Given the description of an element on the screen output the (x, y) to click on. 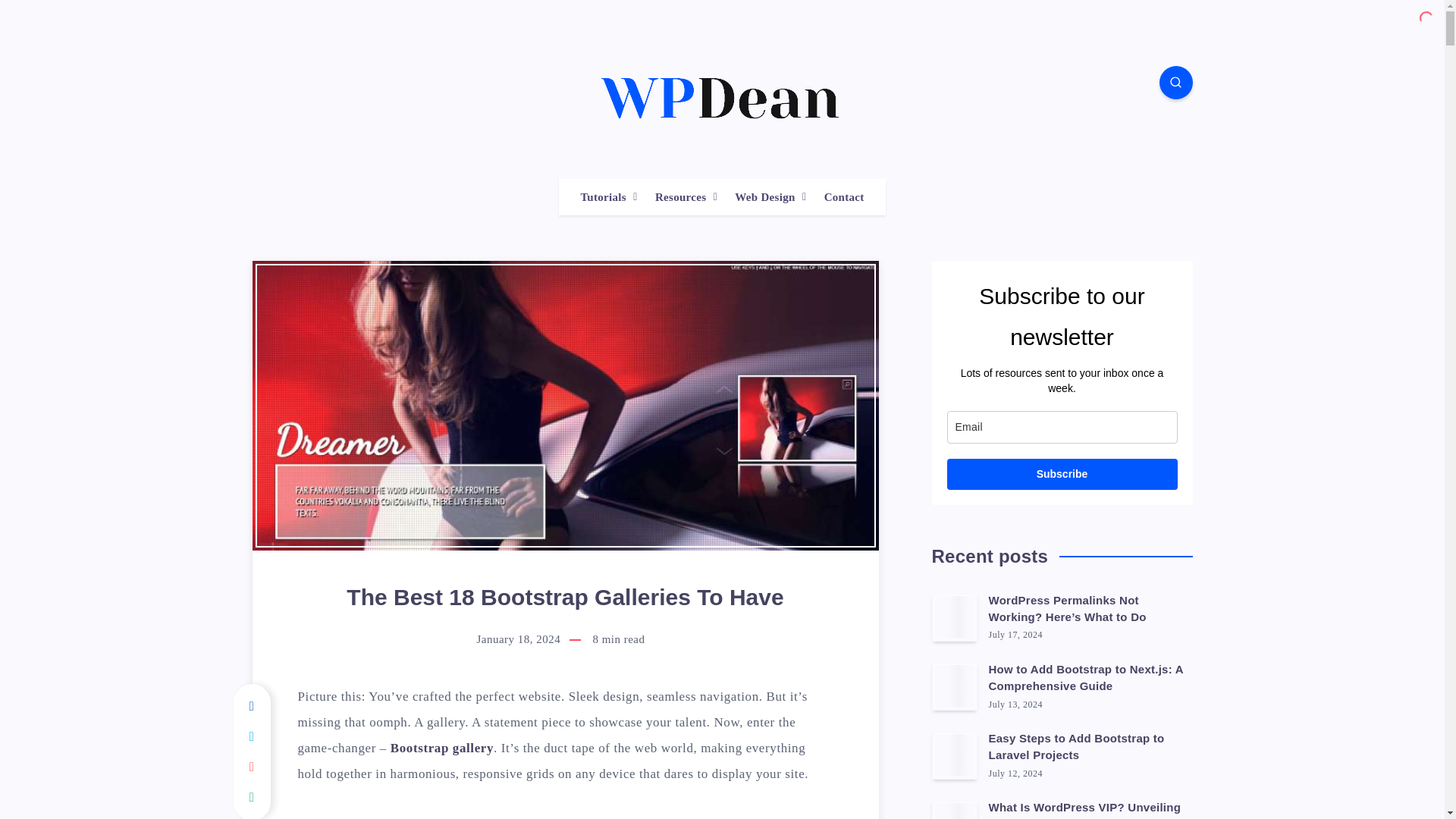
Contact (844, 197)
Tutorials (602, 197)
Resources (680, 197)
Web Design (764, 197)
